Given the description of an element on the screen output the (x, y) to click on. 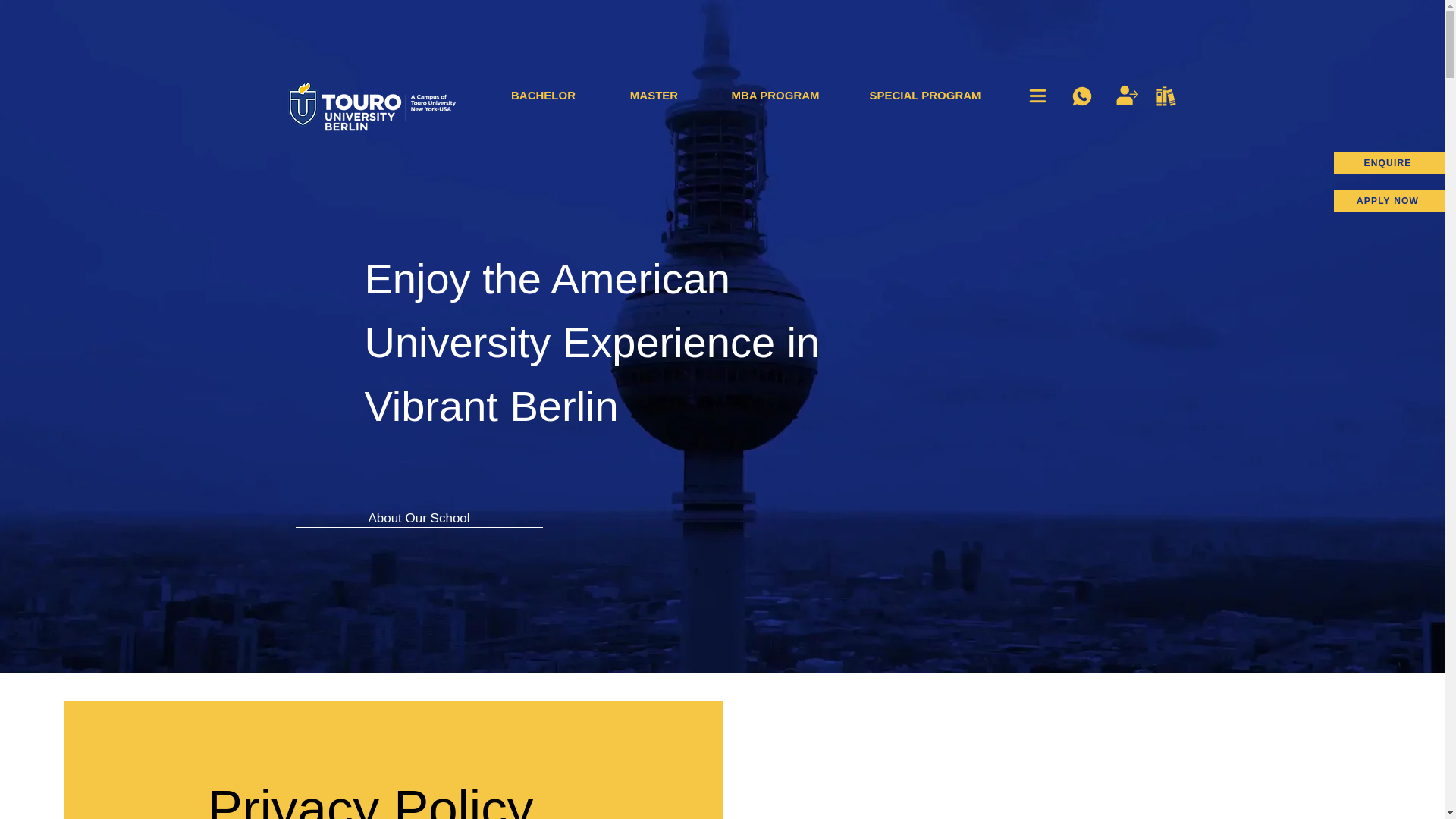
WhatsApp (1081, 95)
MBA PROGRAM (774, 95)
SPECIAL PROGRAM (924, 95)
BACHELOR (542, 95)
Touro One (1127, 94)
MASTER (653, 95)
About Our School (419, 518)
Library  (1165, 95)
Logo Touro Belin (376, 108)
